Given the description of an element on the screen output the (x, y) to click on. 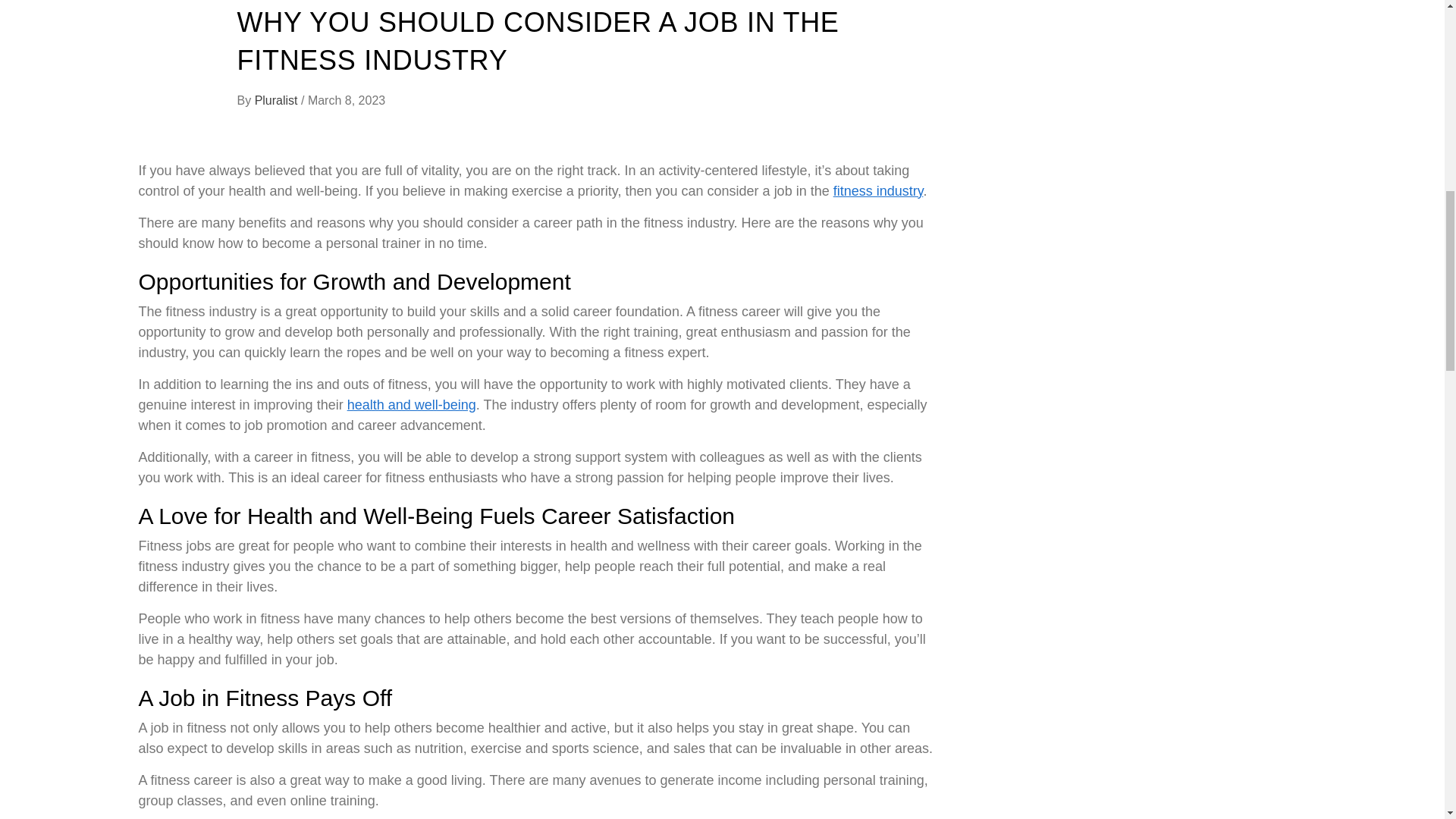
health and well-being (411, 404)
fitness industry (877, 191)
Pluralist (277, 100)
